Given the description of an element on the screen output the (x, y) to click on. 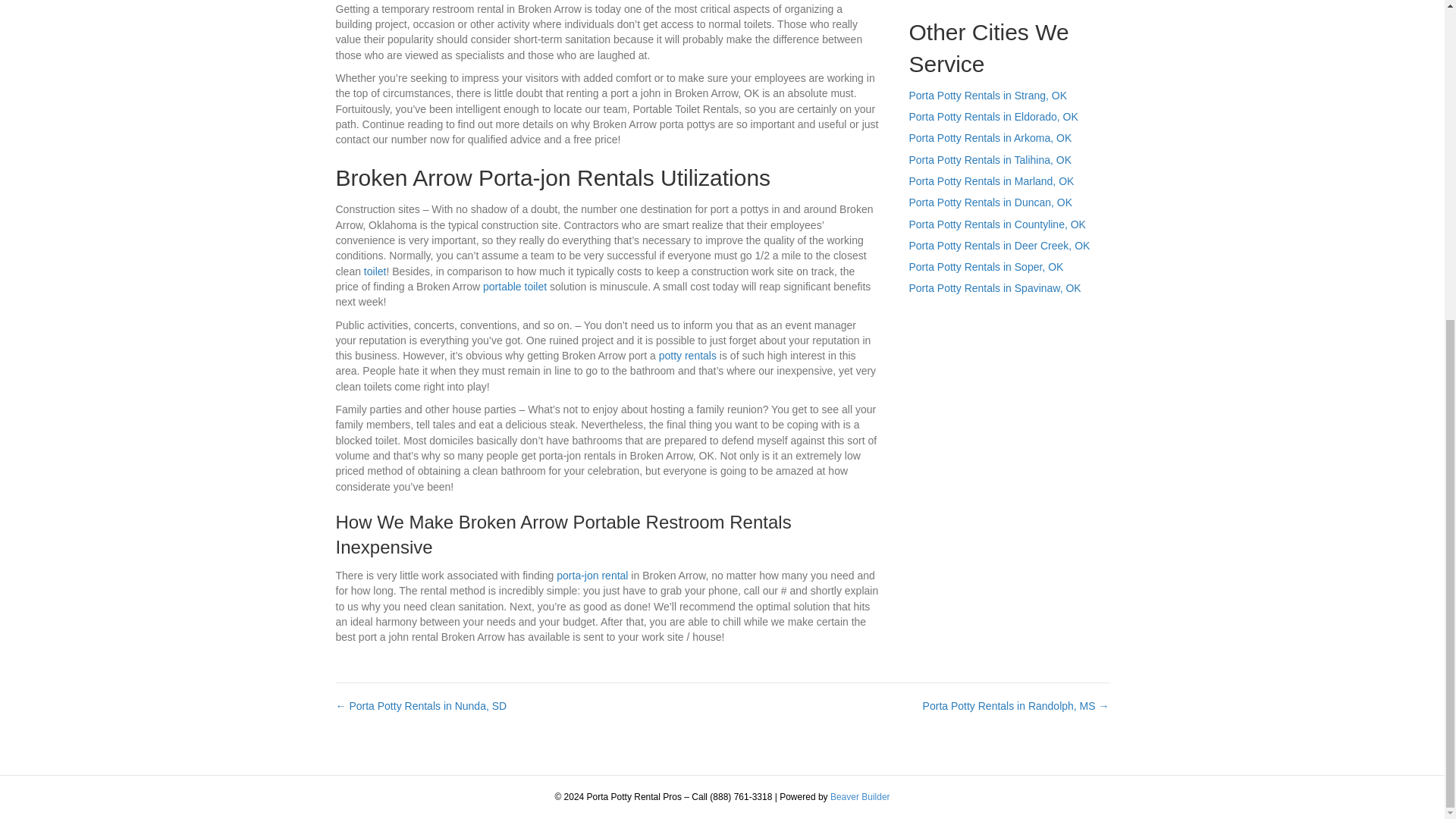
Porta Potty Rentals in Deer Creek, OK (998, 245)
Porta Potty Rentals in Spavinaw, OK (994, 287)
Porta Potty Rentals in Deer Creek, OK (998, 245)
portable toilet (515, 286)
Porta Potty Rentals in Soper, OK (985, 266)
Porta Potty Rentals in Eldorado, OK (992, 116)
Porta Potty Rentals in Strang, OK (987, 95)
Porta Potty Rentals in Marland, OK (991, 181)
porta-jon rental (591, 575)
Porta Potty Rentals in Arkoma, OK (989, 137)
WordPress Page Builder Plugin (859, 796)
Porta Potty Rentals in Spavinaw, OK (994, 287)
Porta Potty Rentals in Countyline, OK (996, 224)
Porta Potty Rentals in Soper, OK (985, 266)
Beaver Builder (859, 796)
